Given the description of an element on the screen output the (x, y) to click on. 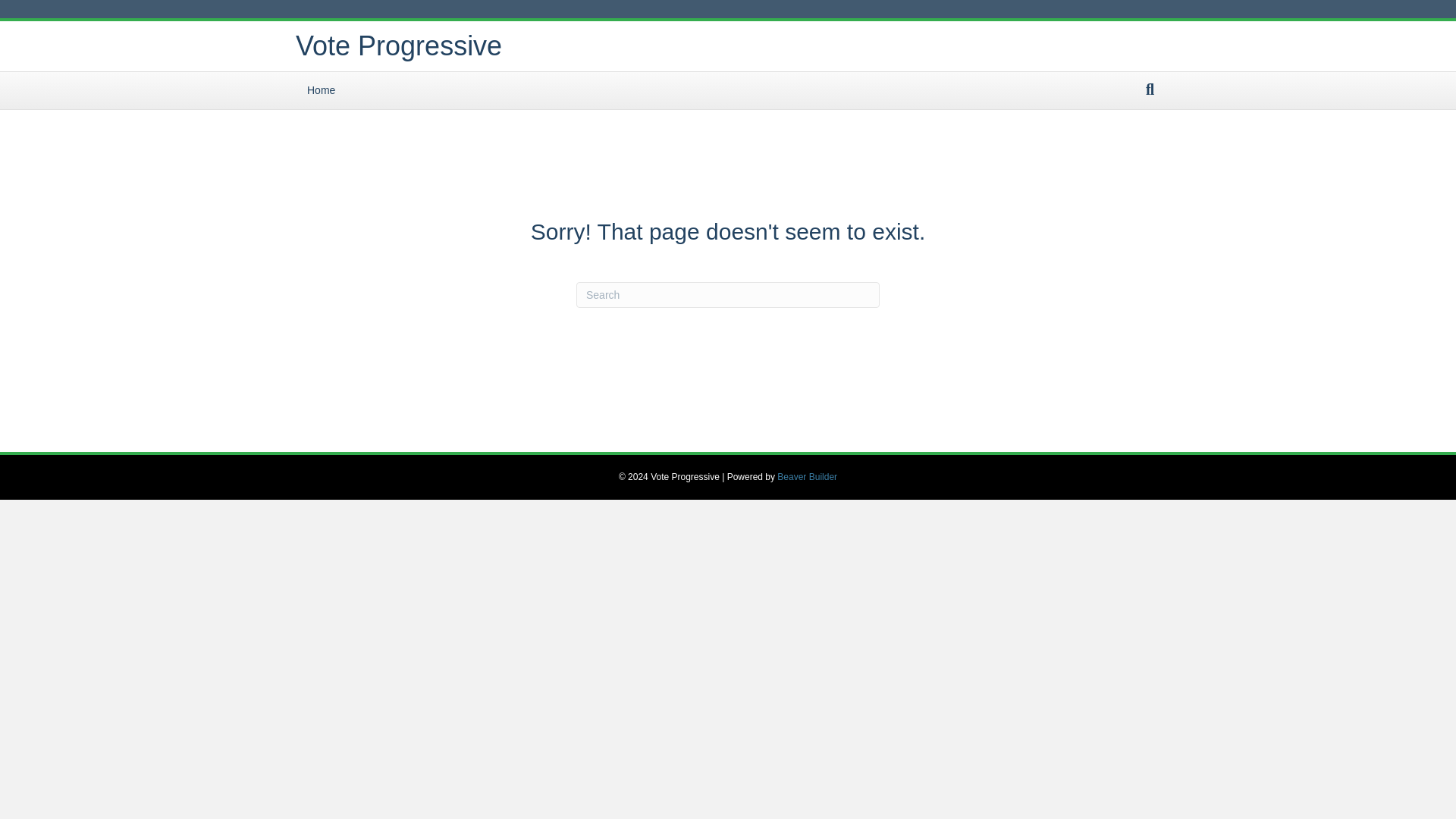
Vote Progressive (499, 45)
Beaver Builder (807, 476)
Home (320, 90)
WordPress Page Builder Plugin (807, 476)
Type and press Enter to search. (727, 294)
